Given the description of an element on the screen output the (x, y) to click on. 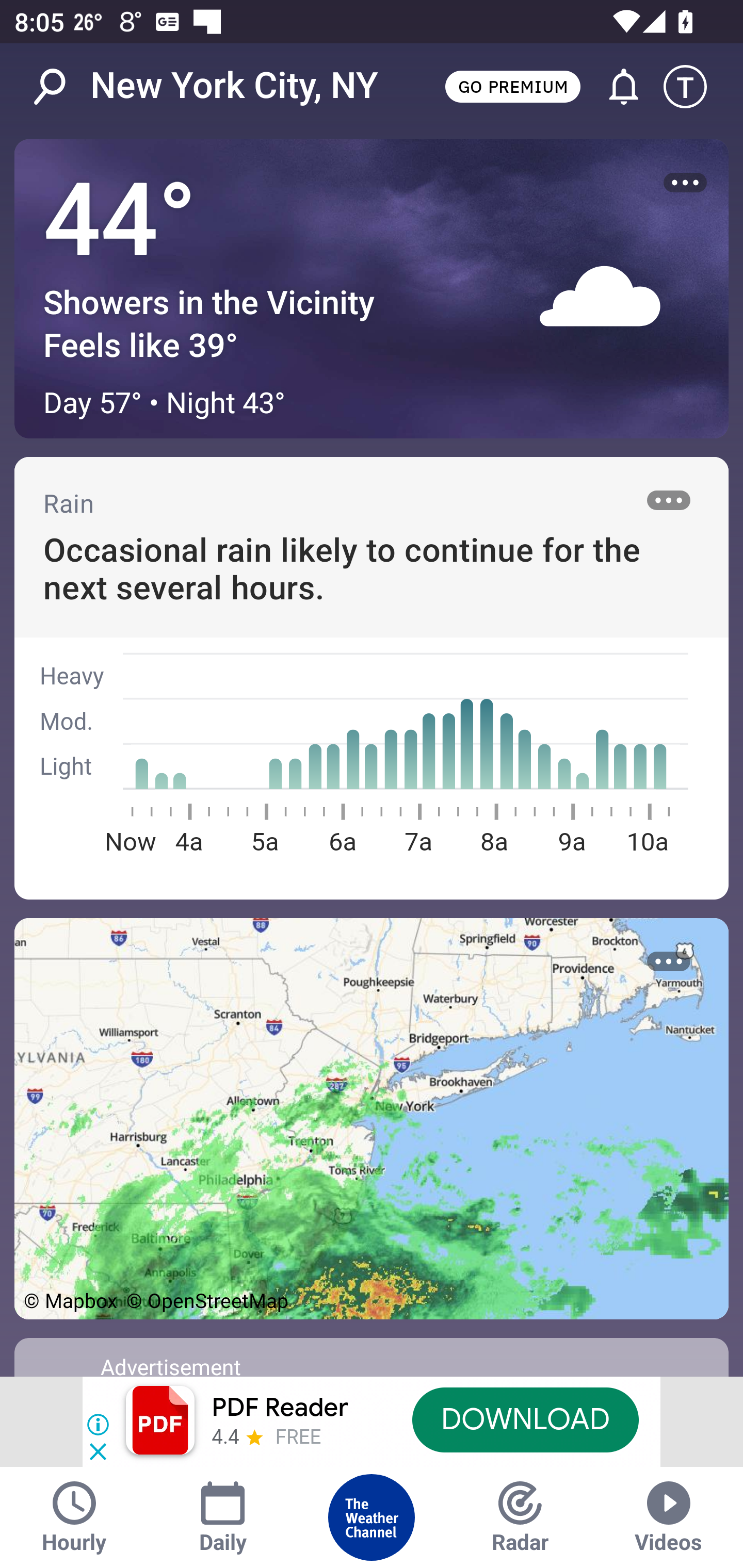
Search (59, 86)
Go to Alerts and Notifications (614, 86)
Setting icon T (694, 86)
New York City, NY (234, 85)
GO PREMIUM (512, 85)
More options (684, 182)
More options (668, 500)
See Map Details (371, 1118)
More options (668, 961)
DOWNLOAD (524, 1419)
PDF Reader (279, 1407)
Hourly Tab Hourly (74, 1517)
Daily Tab Daily (222, 1517)
Radar Tab Radar (519, 1517)
Videos Tab Videos (668, 1517)
